Given the description of an element on the screen output the (x, y) to click on. 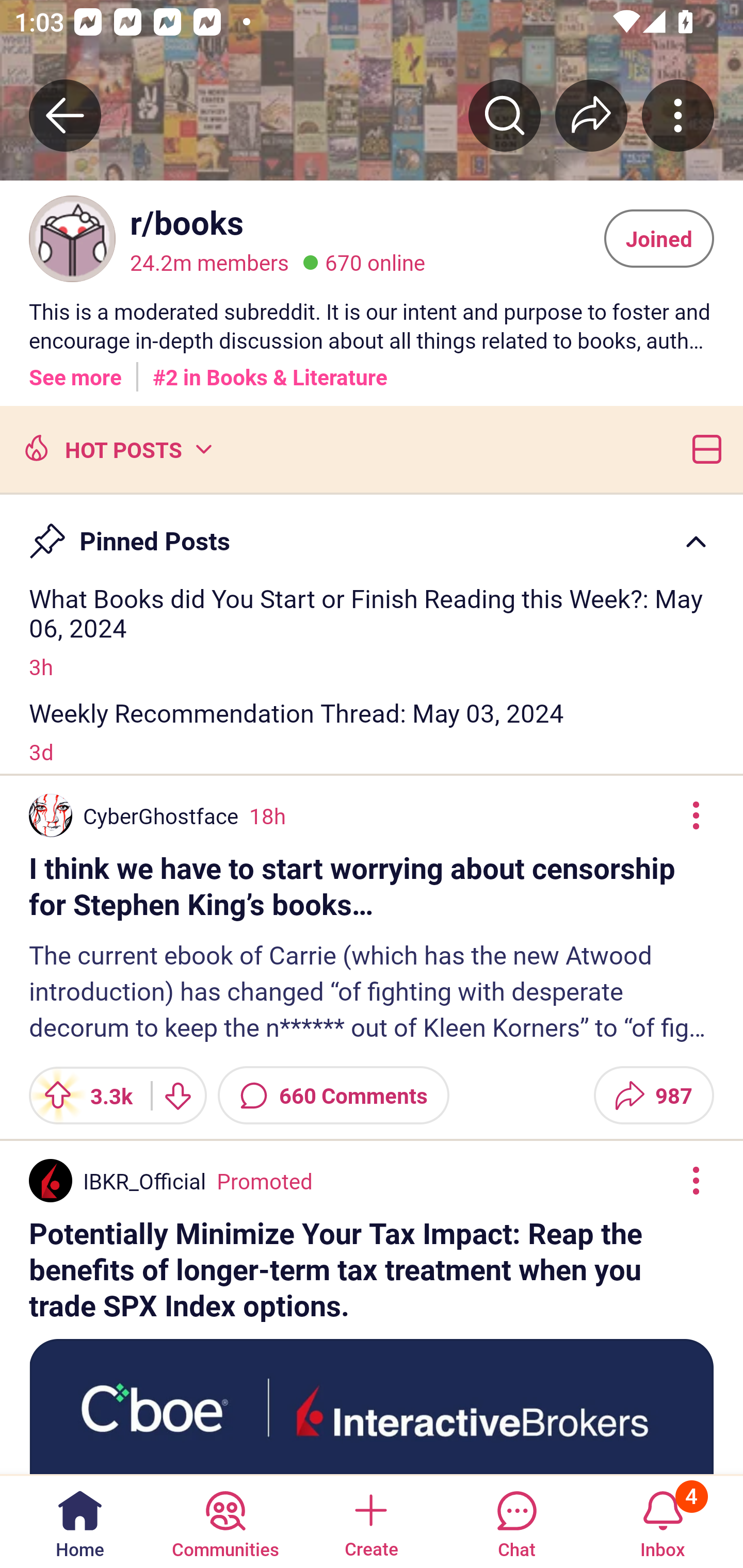
Back (64, 115)
Search r/﻿books (504, 115)
Share r/﻿books (591, 115)
More community actions (677, 115)
Hot posts HOT POSTS (116, 448)
Card (703, 448)
Pin Pinned Posts Caret (371, 531)
Weekly Recommendation Thread: May 03, 2024 3d (371, 731)
Home (80, 1520)
Communities (225, 1520)
Create a post Create (370, 1520)
Chat (516, 1520)
Inbox, has 4 notifications 4 Inbox (662, 1520)
